Given the description of an element on the screen output the (x, y) to click on. 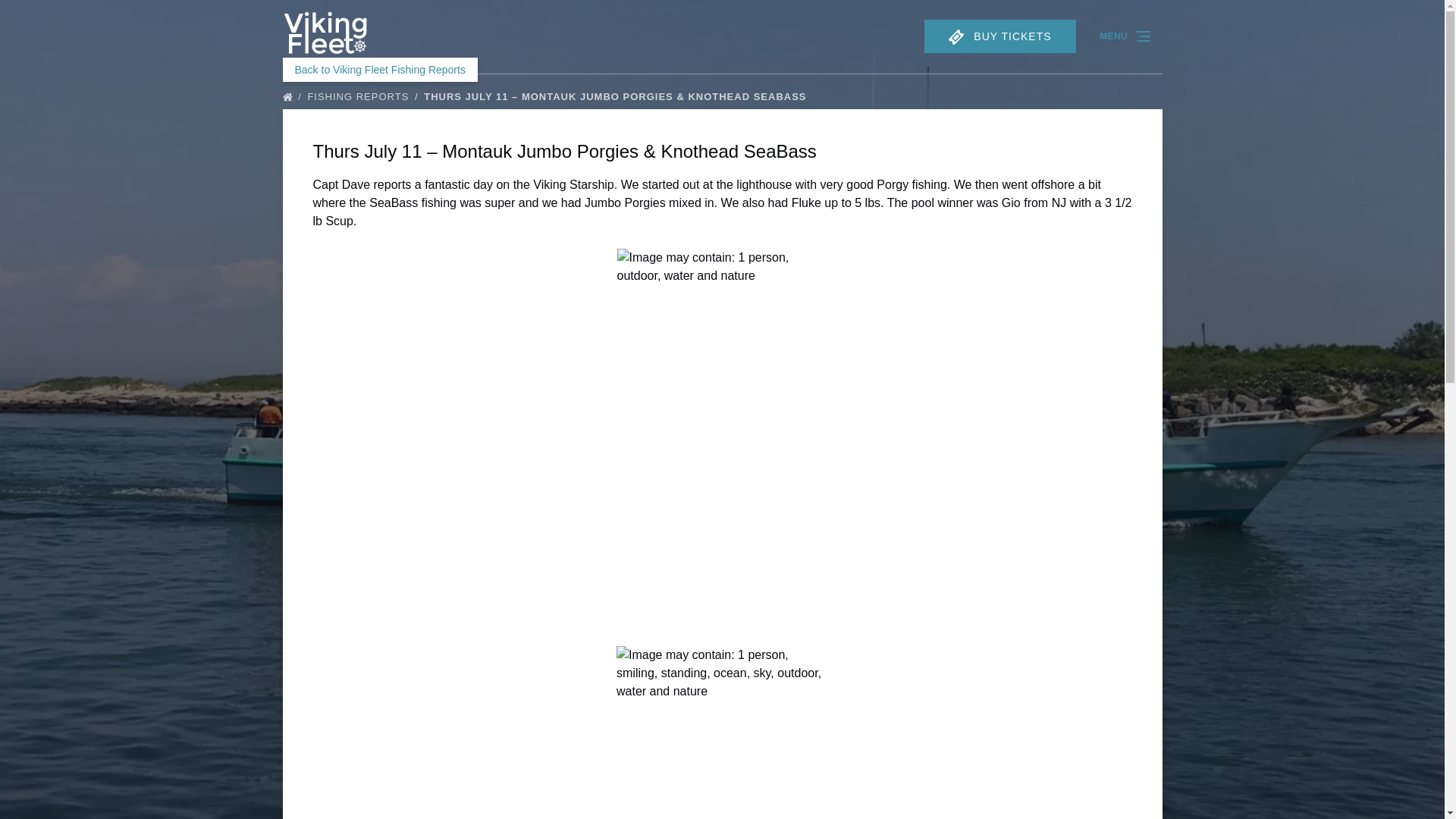
Back to Viking Fleet Fishing Reports (379, 69)
Skip to content (47, 16)
FISHING REPORTS (363, 96)
TICKET (956, 37)
TICKET BUY TICKETS (999, 36)
MENU (1125, 36)
Skip to footer (42, 16)
Skip to primary navigation (77, 16)
